Given the description of an element on the screen output the (x, y) to click on. 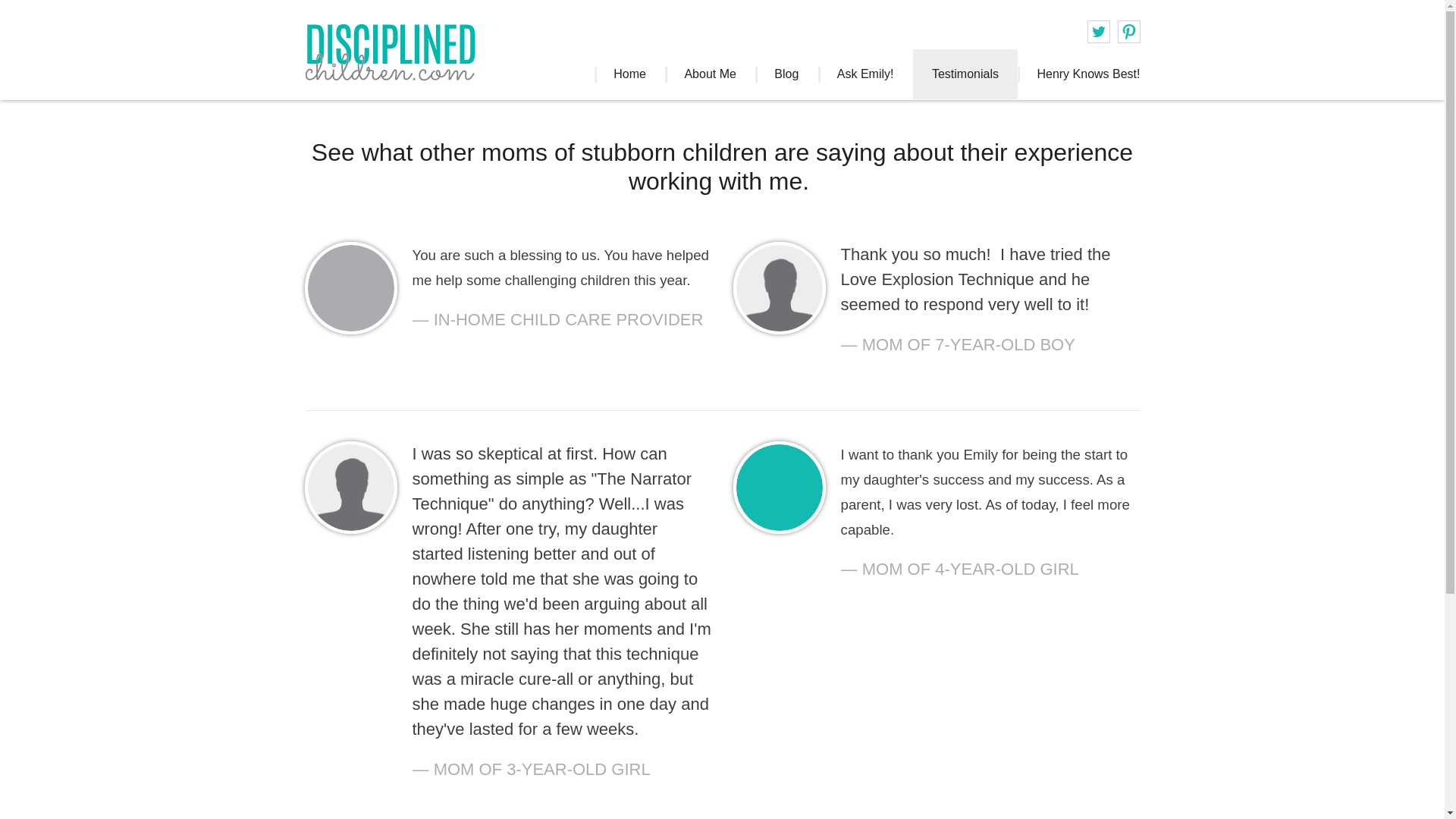
Home (629, 74)
Twitter (1098, 31)
Ask Emily! (865, 74)
Mom of 4-year-old girl (990, 587)
MOM OF 4-YEAR-OLD GIRL (990, 587)
DisciplinedChildren.com (408, 50)
In-Home Child Care Provider (561, 338)
Mom of 7-Year-Old Boy (990, 362)
Mom of 3-Year-Old Girl (561, 787)
MOM OF 3-YEAR-OLD GIRL (561, 787)
Henry Knows Best! (1087, 74)
About Me (709, 74)
IN-HOME CHILD CARE PROVIDER (561, 338)
Blog (785, 74)
